Given the description of an element on the screen output the (x, y) to click on. 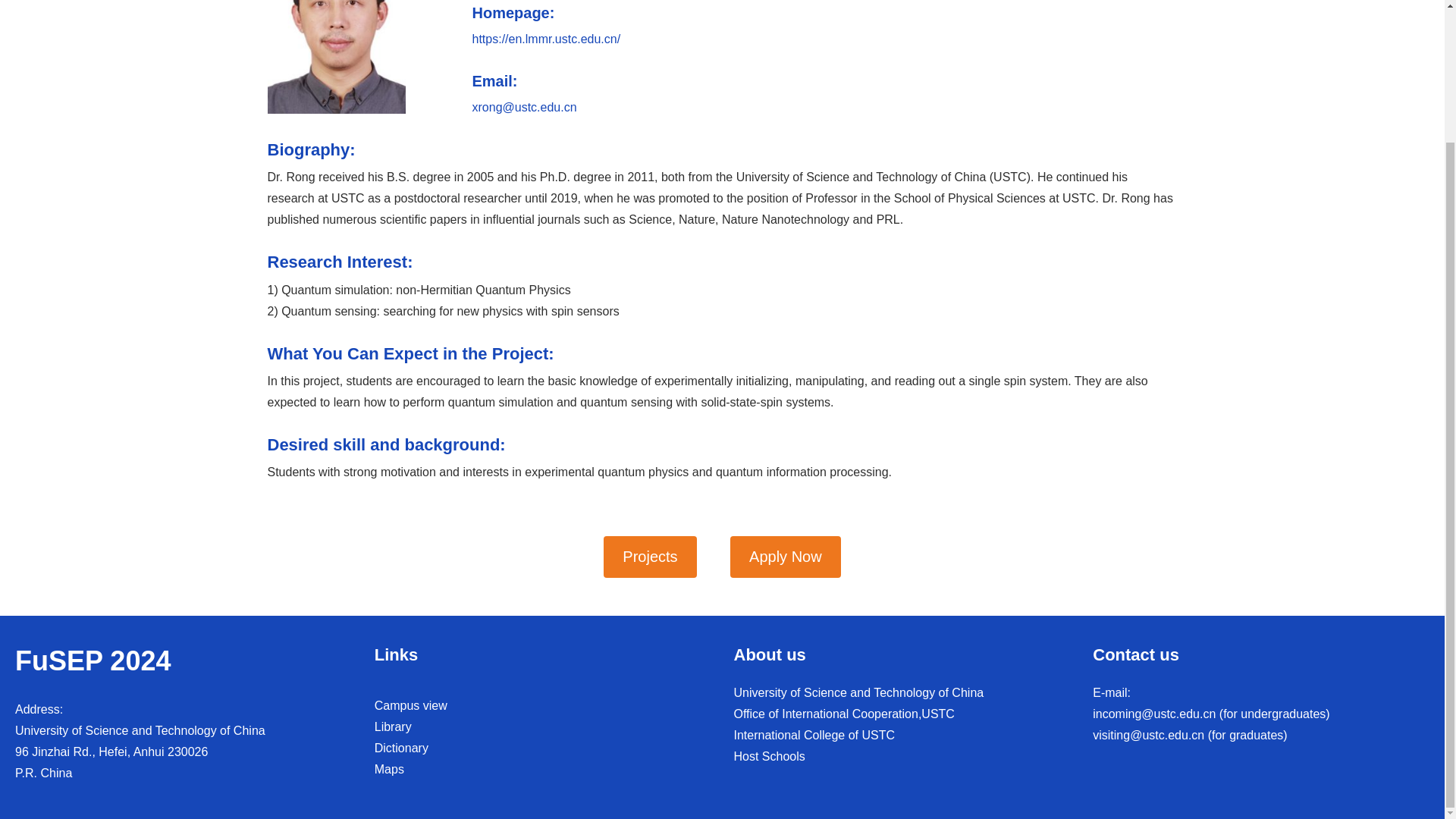
International College of USTC (814, 735)
Host Schools (769, 756)
Library (393, 726)
Office of International Cooperation,USTC (844, 713)
University of Science and Technology of China (858, 692)
Apply Now (785, 557)
Campus view (410, 705)
Dictionary (401, 748)
Projects (649, 557)
Maps (389, 768)
